Given the description of an element on the screen output the (x, y) to click on. 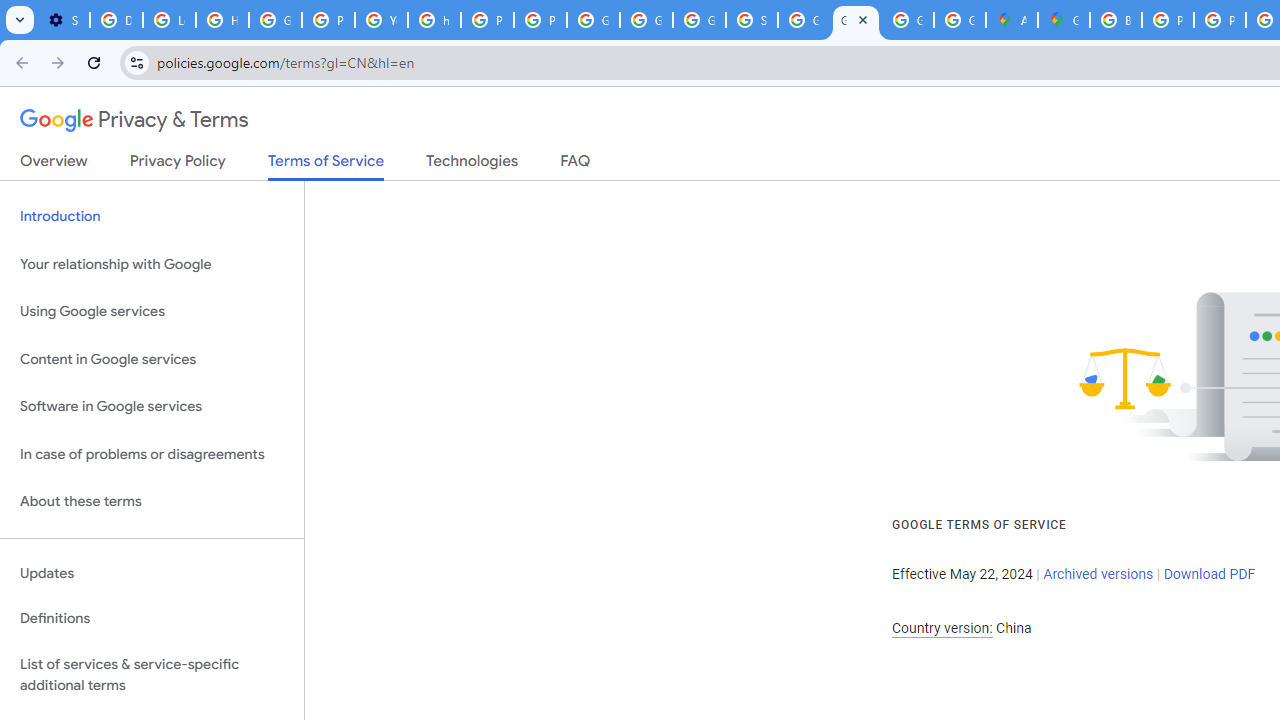
Introduction (152, 216)
Overview (54, 165)
Privacy Help Center - Policies Help (1167, 20)
FAQ (575, 165)
Download PDF (1209, 574)
In case of problems or disagreements (152, 453)
Settings - Customize profile (63, 20)
Privacy Help Center - Policies Help (328, 20)
Blogger Policies and Guidelines - Transparency Center (1115, 20)
